Given the description of an element on the screen output the (x, y) to click on. 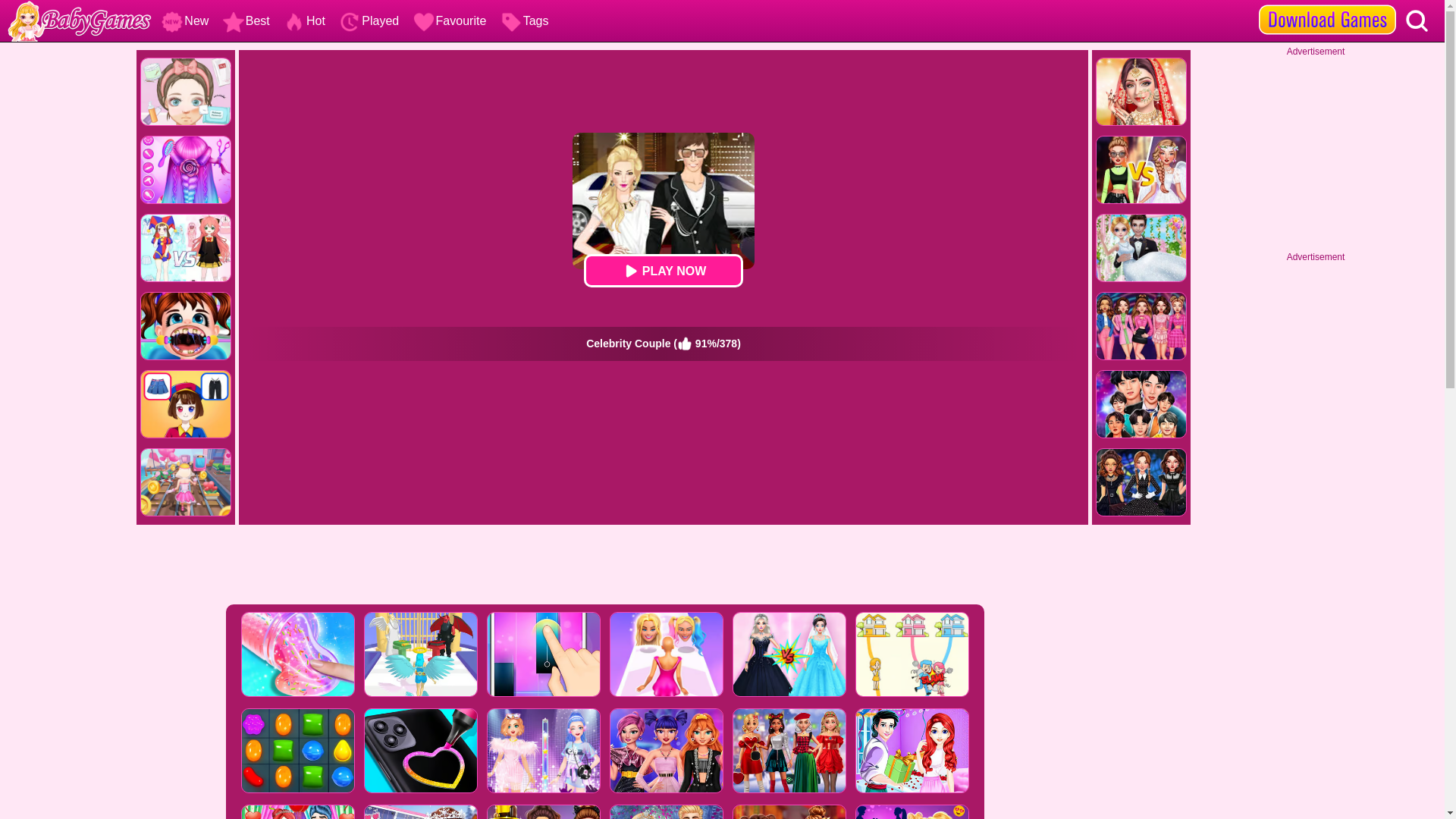
New (183, 20)
Advertisement (603, 566)
Advertisement (1315, 152)
Played (367, 20)
Hot (302, 20)
Tags (523, 20)
PLAY NOW (662, 270)
Best (244, 20)
Favourite (448, 20)
